Given the description of an element on the screen output the (x, y) to click on. 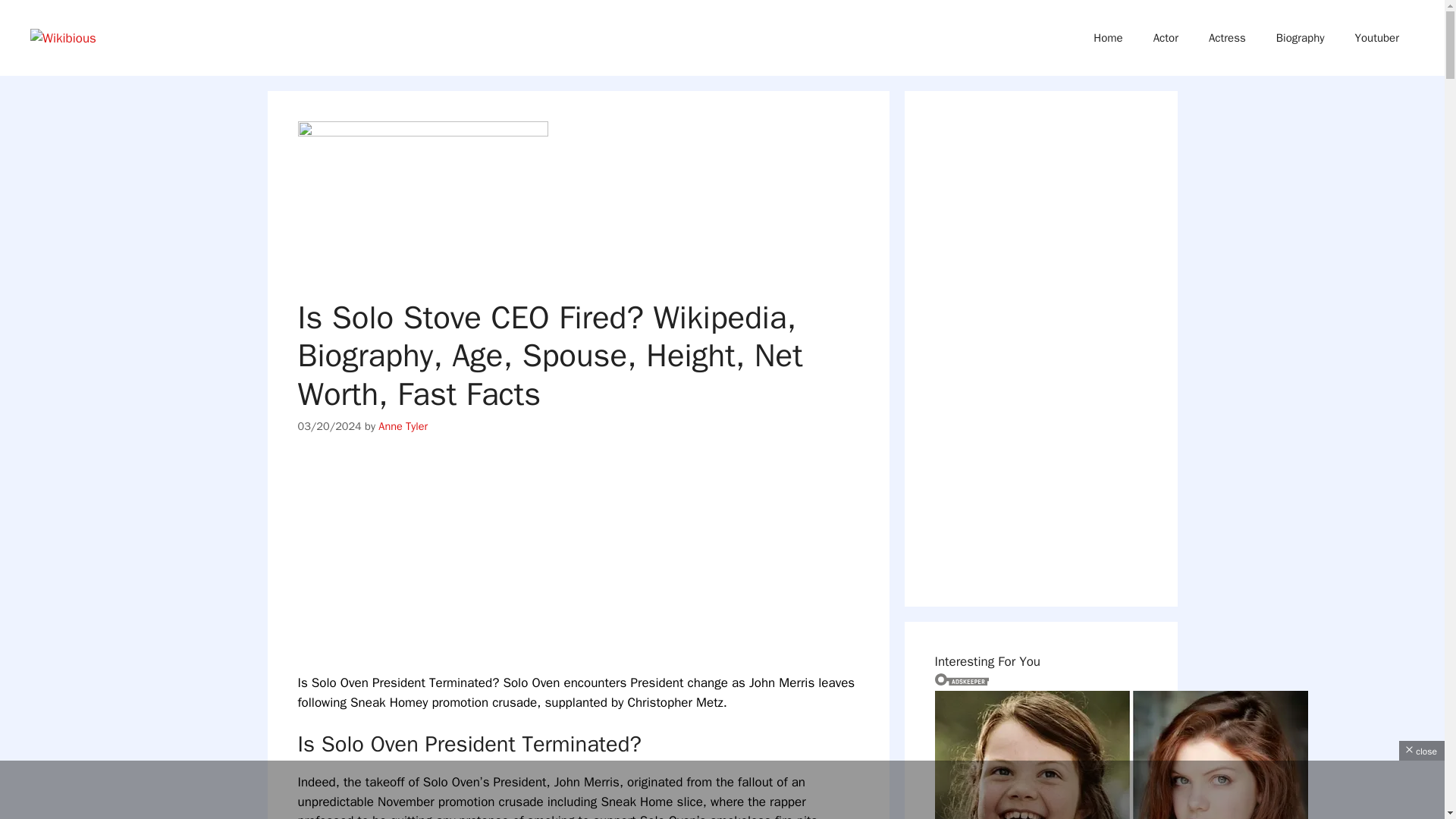
View all posts by Anne Tyler (403, 426)
Biography (1299, 37)
Youtuber (1376, 37)
Advertisement (596, 567)
Actor (1165, 37)
Advertisement (722, 787)
Anne Tyler (403, 426)
Actress (1226, 37)
Home (1107, 37)
